Given the description of an element on the screen output the (x, y) to click on. 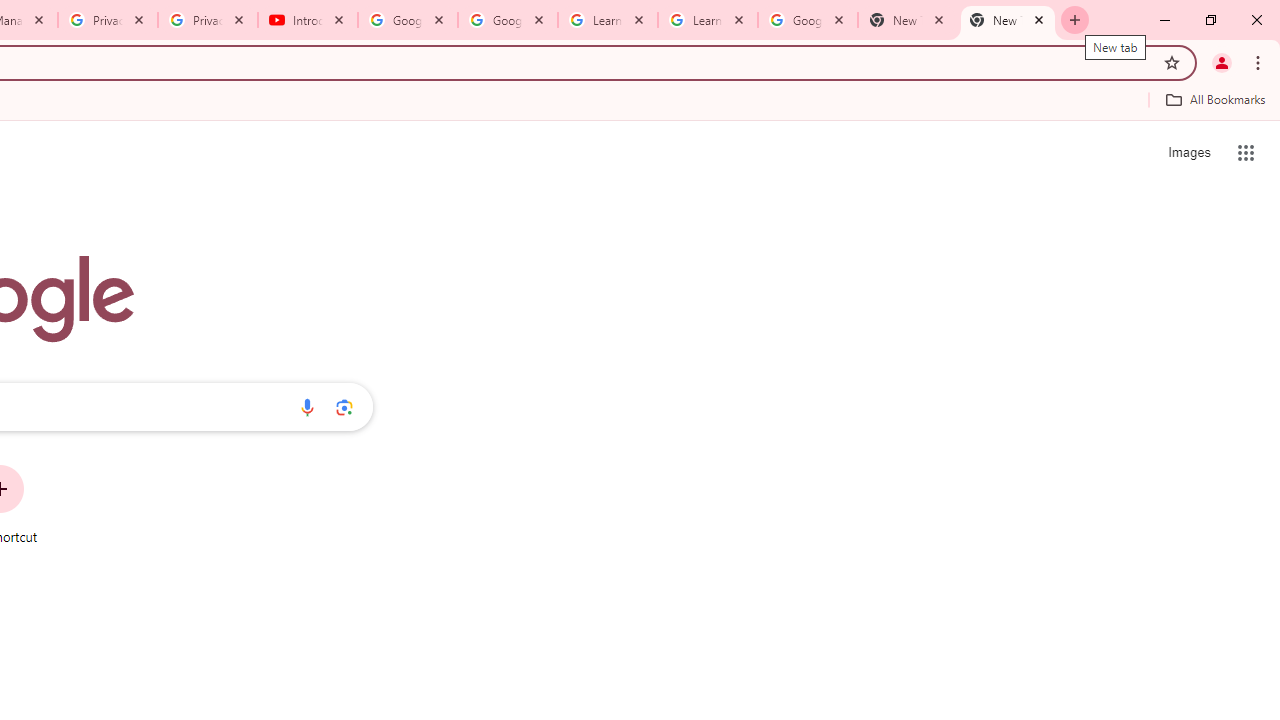
New Tab (1007, 20)
